Given the description of an element on the screen output the (x, y) to click on. 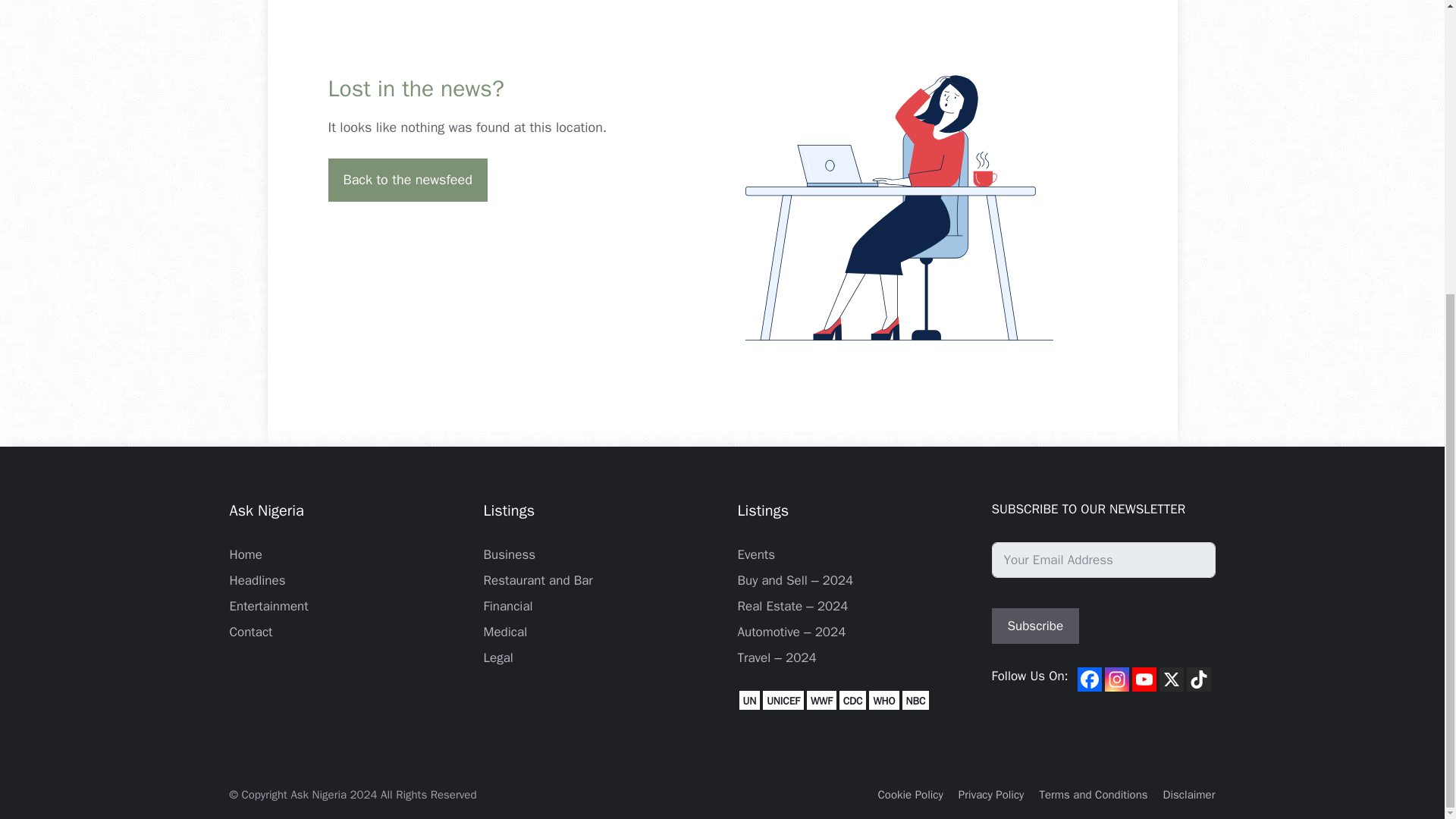
Youtube channel (1144, 679)
Instagram (1117, 679)
X (1170, 679)
Facebook (1089, 679)
TikTok (1198, 679)
